Given the description of an element on the screen output the (x, y) to click on. 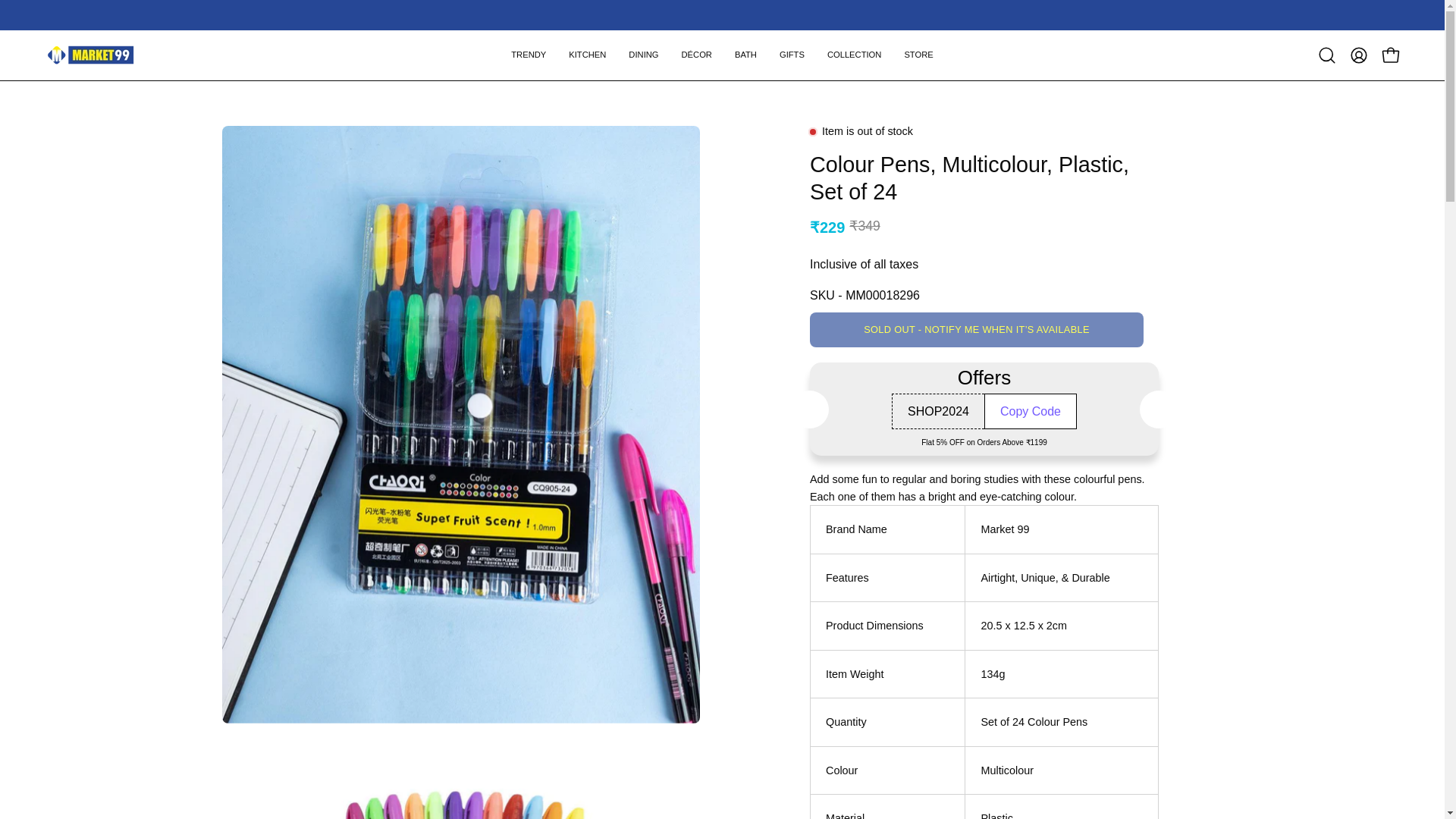
Open search bar (1326, 55)
